Given the description of an element on the screen output the (x, y) to click on. 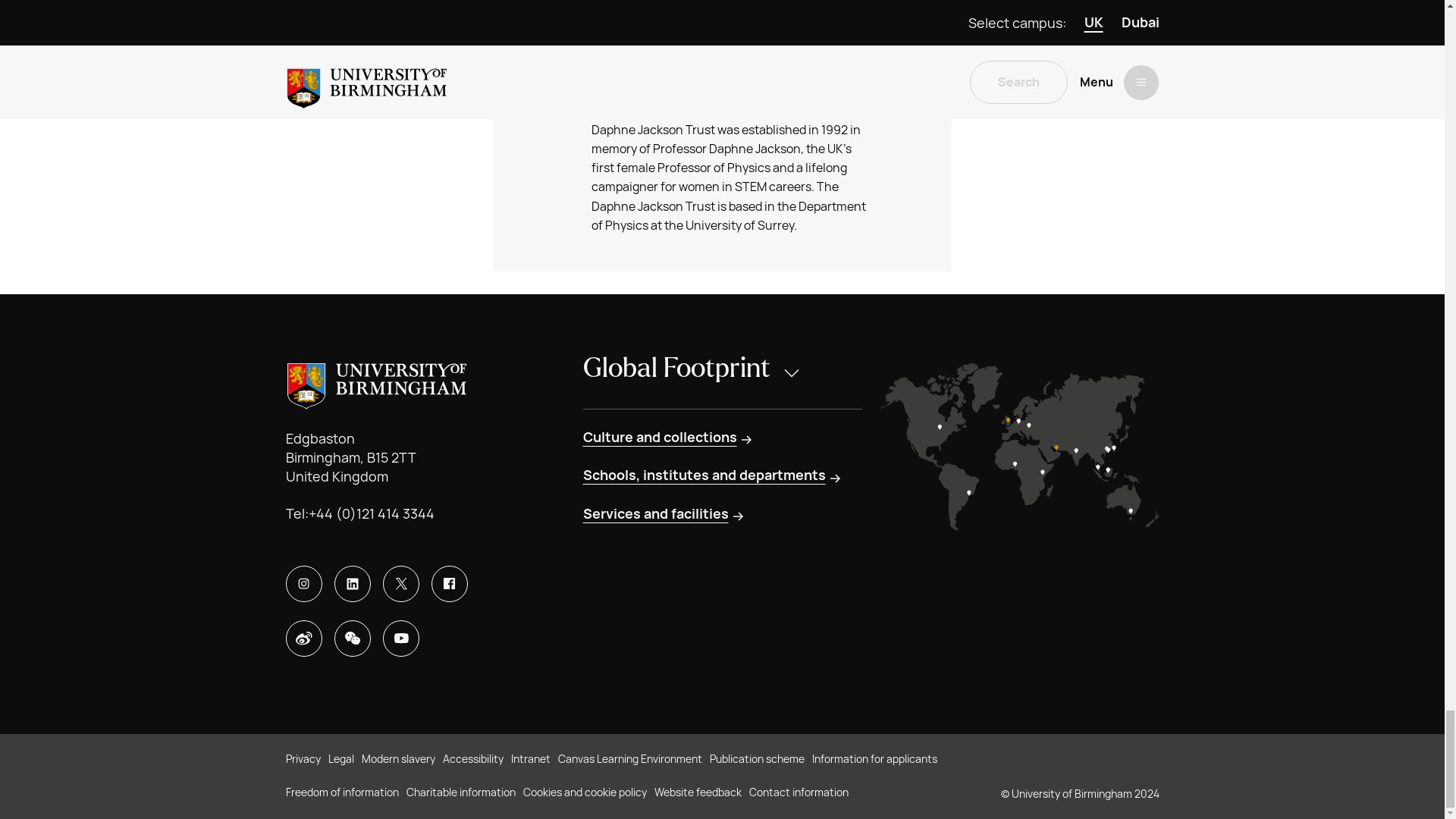
Culture and collections (668, 437)
Schools, institutes and departments (712, 475)
Privacy (302, 760)
Services and facilities (663, 514)
Legal (340, 760)
Modern slavery (397, 760)
